Given the description of an element on the screen output the (x, y) to click on. 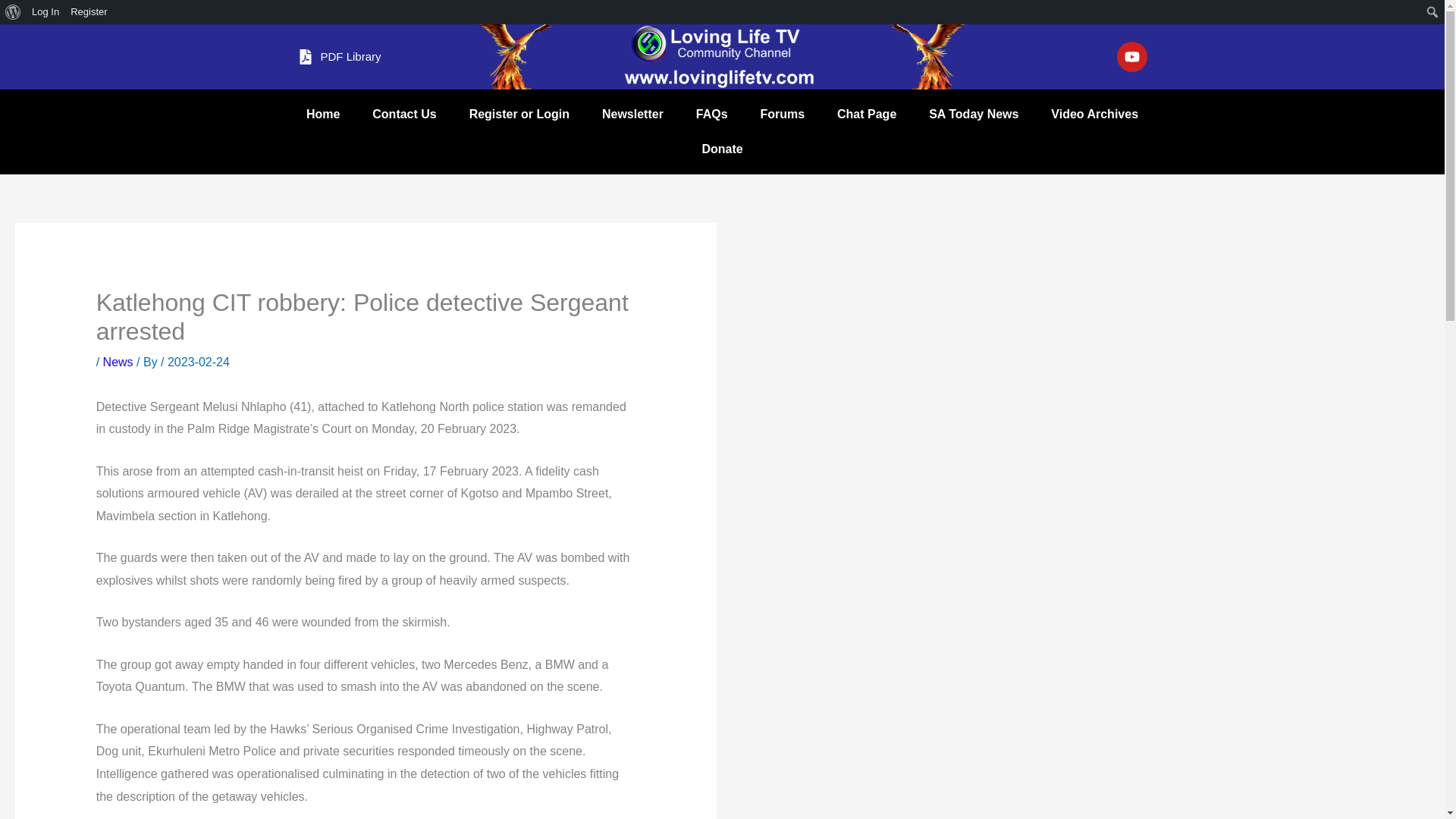
Forums (782, 114)
Home (322, 114)
PDF Library (338, 56)
Chat Page (866, 114)
SA Today News (973, 114)
Video Archives (1094, 114)
Search (15, 12)
Contact Us (404, 114)
Log In (45, 12)
FAQs (711, 114)
News (118, 361)
Newsletter (632, 114)
Register (89, 12)
Donate (721, 149)
Register or Login (518, 114)
